Given the description of an element on the screen output the (x, y) to click on. 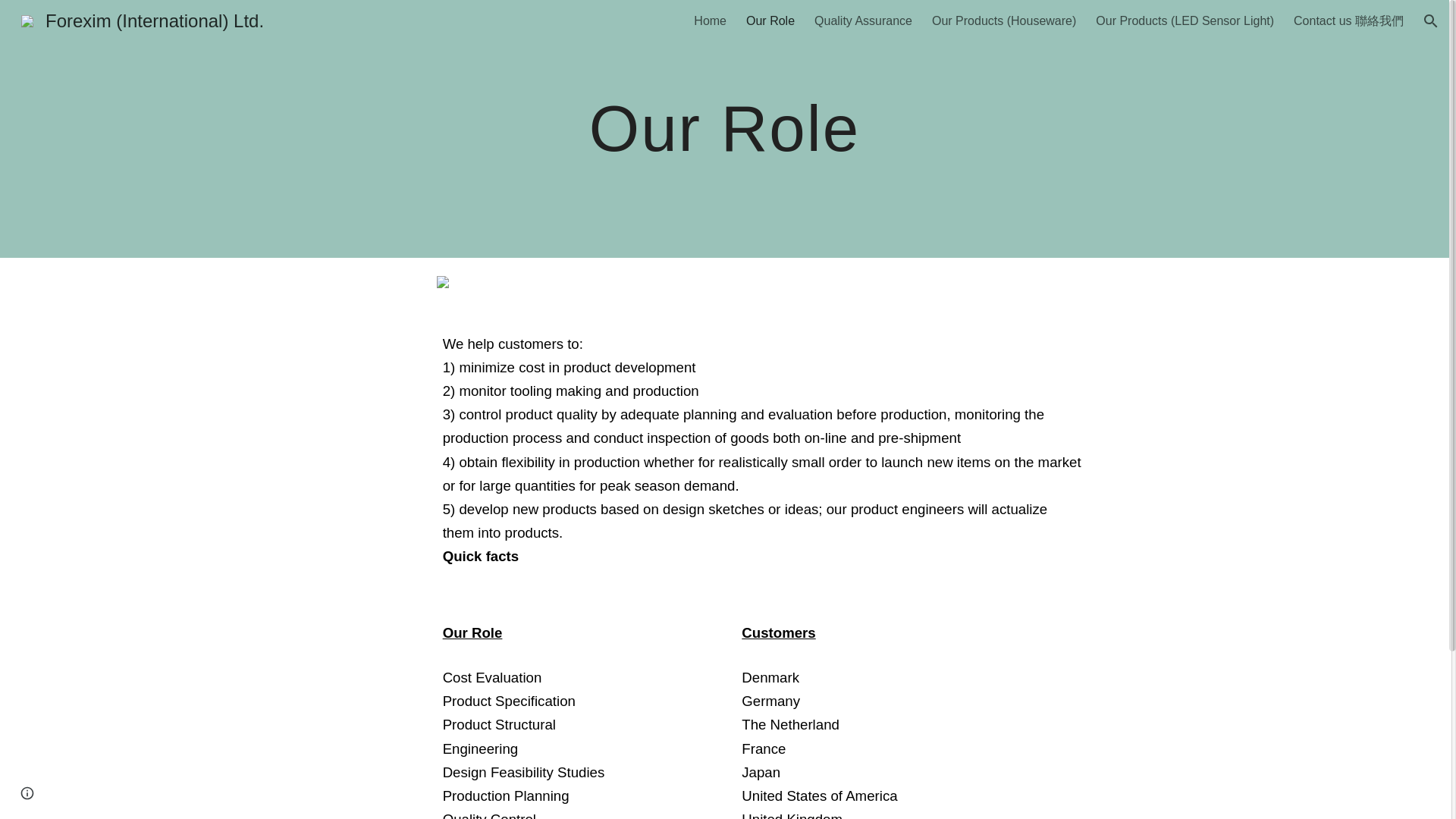
Our Role (769, 20)
Quality Assurance (862, 20)
Home (710, 20)
